Given the description of an element on the screen output the (x, y) to click on. 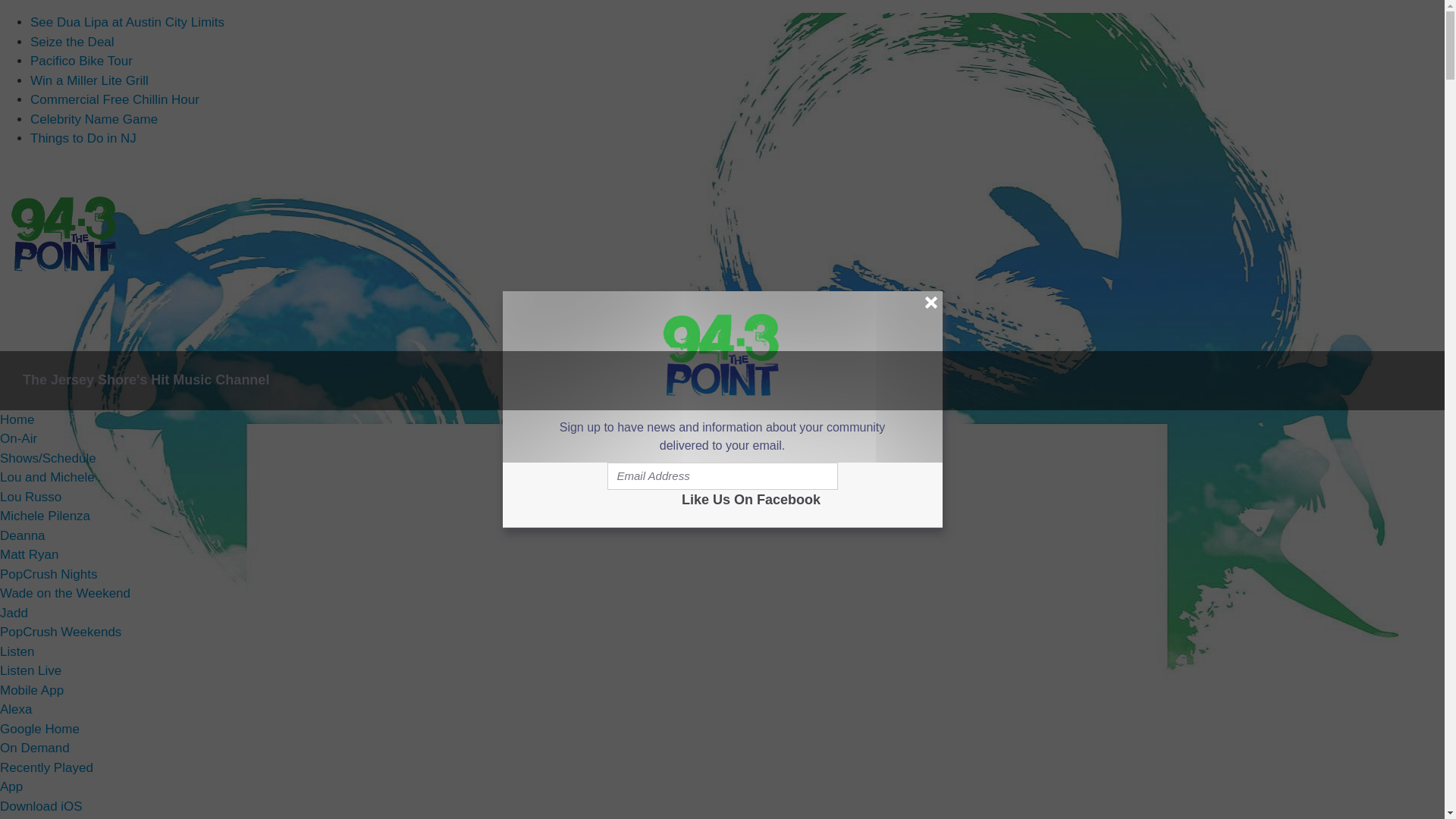
Lou and Michele (47, 477)
Commercial Free Chillin Hour (114, 99)
Pacifico Bike Tour (81, 60)
Jadd (13, 612)
On-Air (18, 438)
Email Address (722, 475)
See Dua Lipa at Austin City Limits (127, 22)
App (11, 786)
On Demand (34, 748)
Listen Live (30, 670)
Wade on the Weekend (65, 593)
Download iOS (41, 806)
Matt Ryan (29, 554)
PopCrush Nights (48, 574)
Michele Pilenza (45, 515)
